Given the description of an element on the screen output the (x, y) to click on. 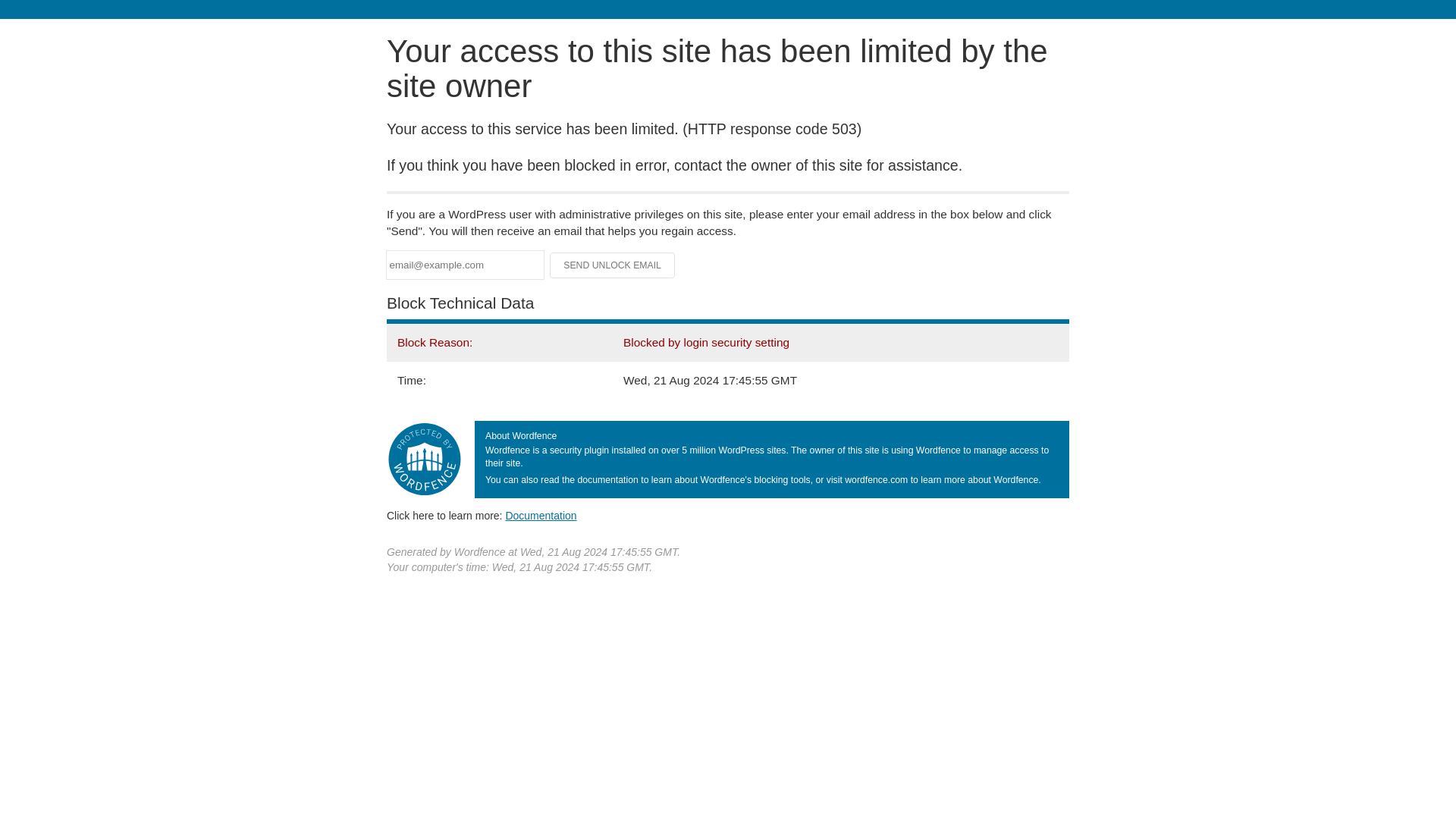
Documentation (540, 515)
Send Unlock Email (612, 265)
Send Unlock Email (612, 265)
